Given the description of an element on the screen output the (x, y) to click on. 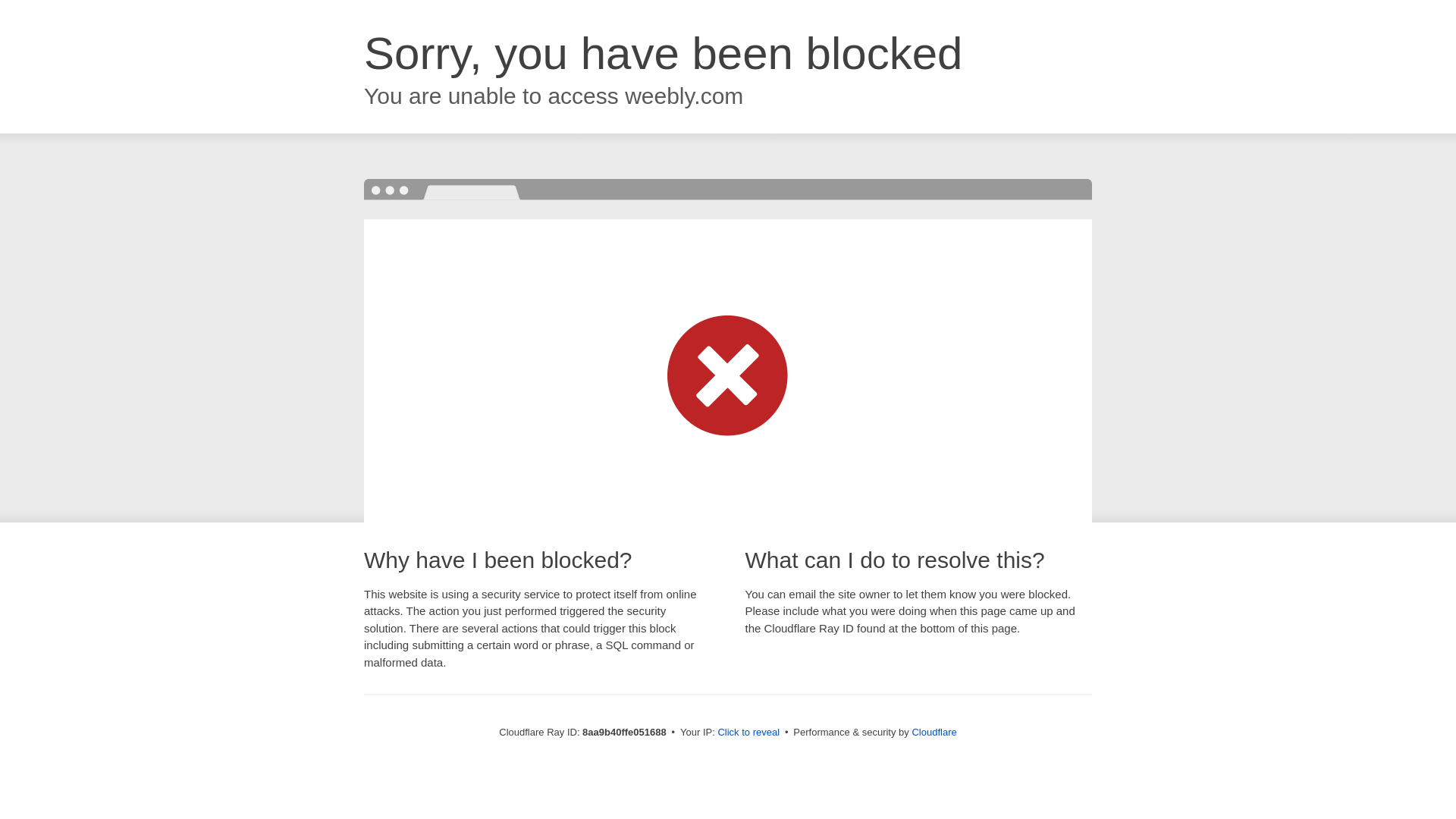
Cloudflare (933, 731)
Click to reveal (747, 732)
